Given the description of an element on the screen output the (x, y) to click on. 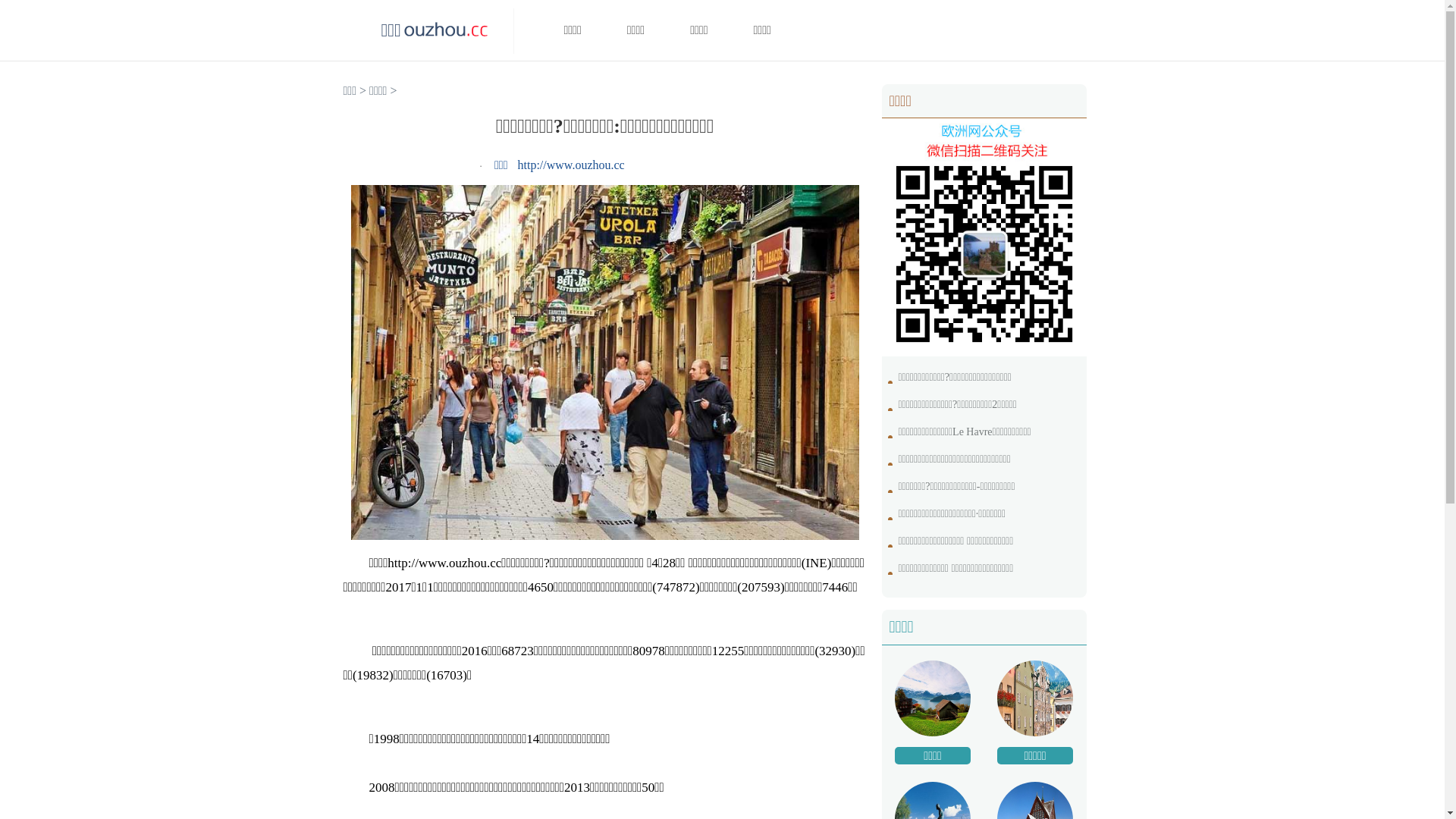
http://www.ouzhou.cc Element type: text (570, 164)
